Given the description of an element on the screen output the (x, y) to click on. 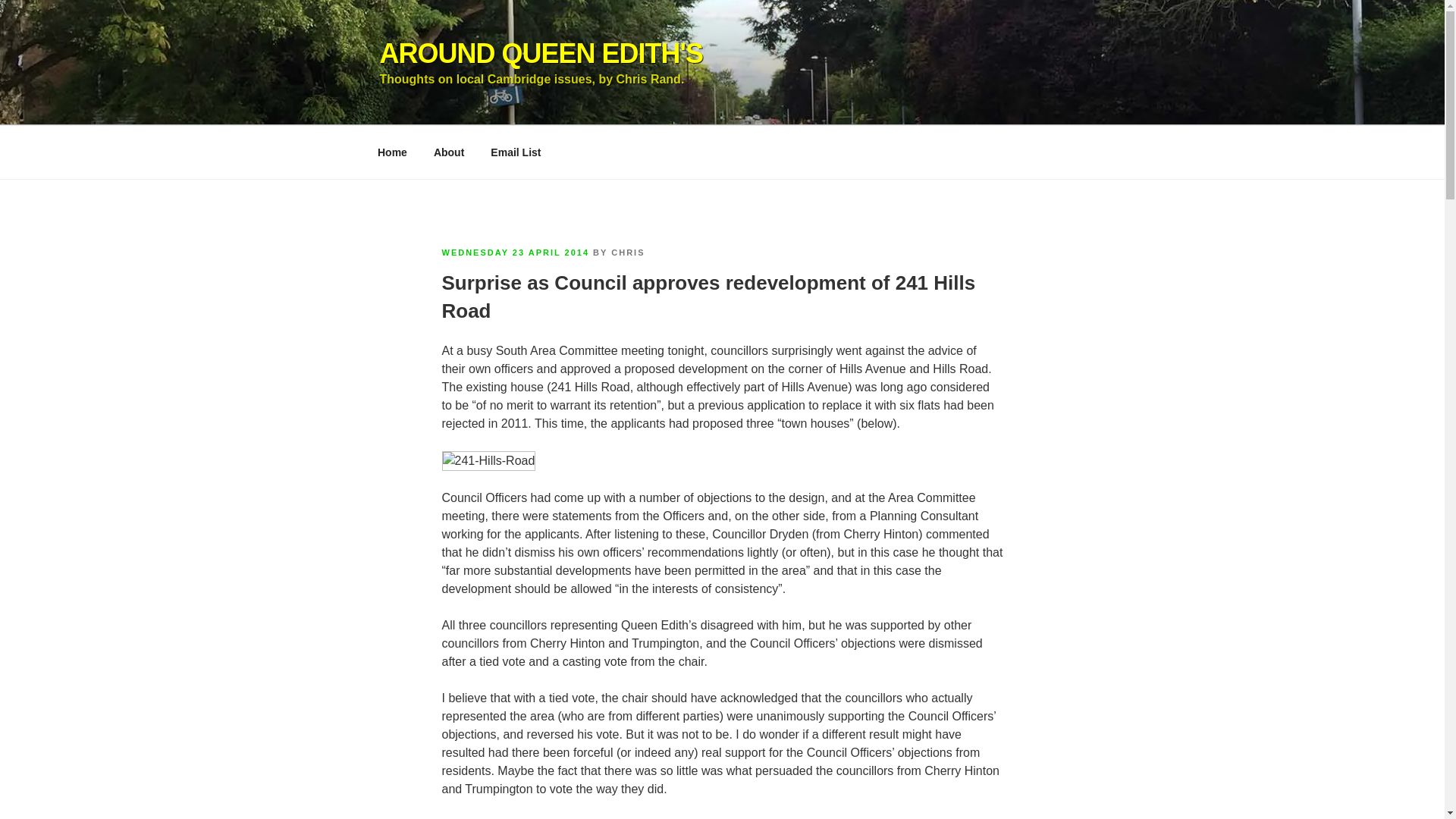
WEDNESDAY 23 APRIL 2014 (515, 252)
Home (392, 151)
AROUND QUEEN EDITH'S (540, 52)
CHRIS (628, 252)
About (448, 151)
Email List (515, 151)
